Given the description of an element on the screen output the (x, y) to click on. 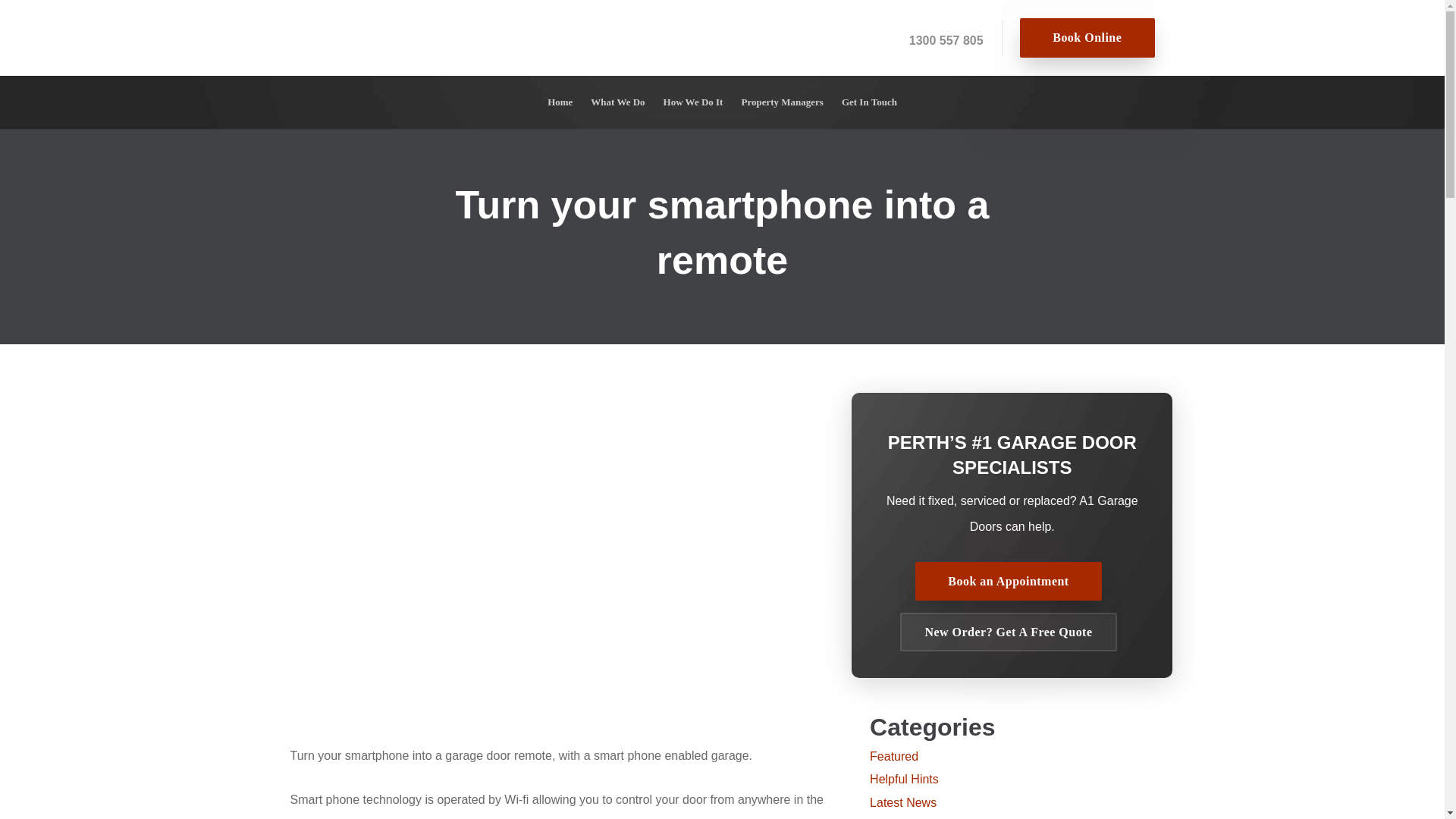
Featured (893, 756)
Book an Appointment (1008, 580)
How We Do It (692, 102)
New Order? Get A Free Quote (1007, 631)
Property Managers (781, 102)
Book Online (1087, 37)
What We Do (616, 102)
Get In Touch (868, 102)
1300 557 805 (946, 40)
Latest News (902, 802)
Helpful Hints (904, 779)
